Given the description of an element on the screen output the (x, y) to click on. 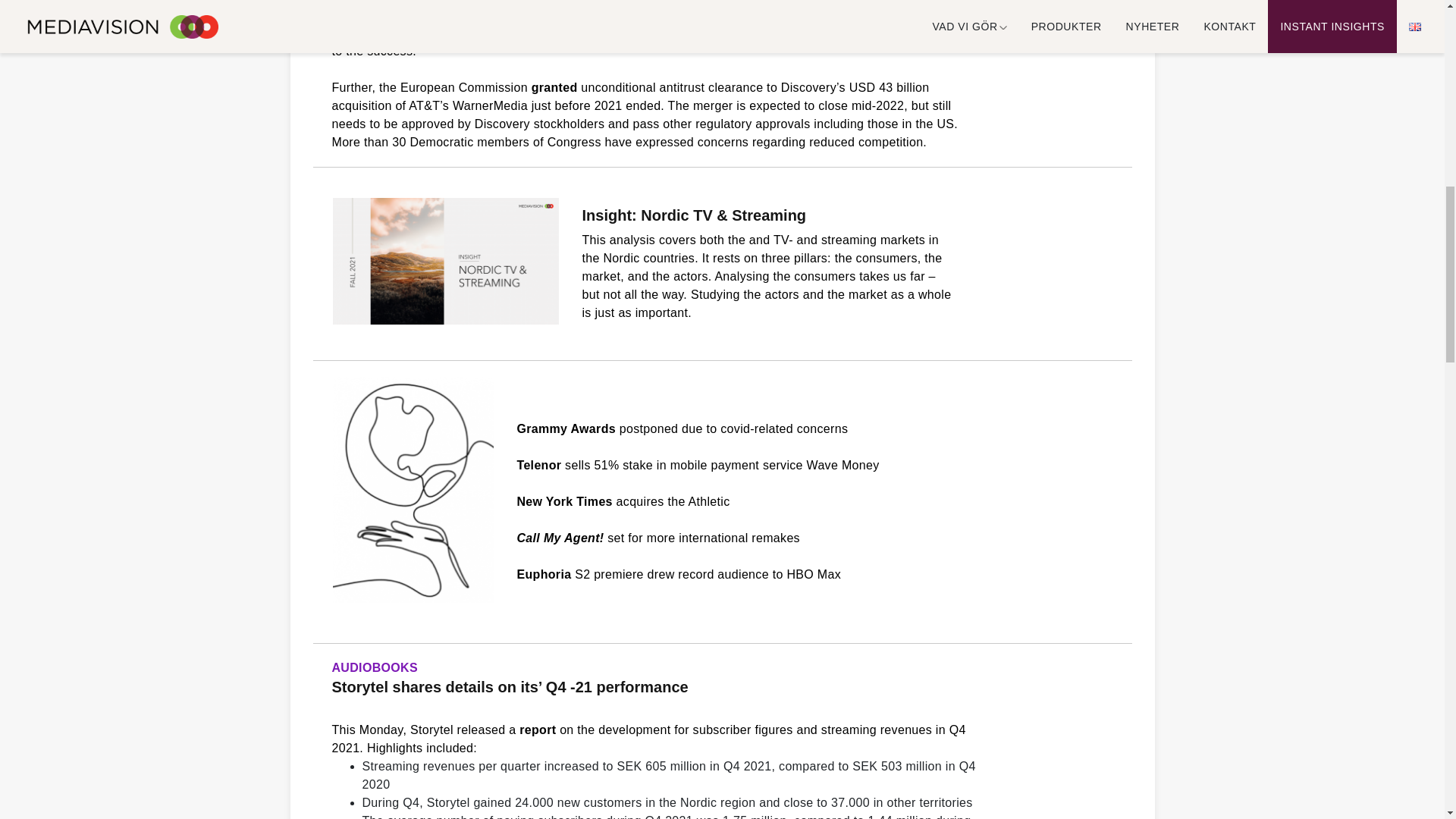
Telenor (539, 464)
New York Times (564, 501)
Grammy Awards (565, 428)
disclosed (512, 1)
This Monday, Storytel released a  (425, 729)
report (537, 729)
granted (554, 87)
Euphoria (544, 574)
Call My Agent! (560, 537)
